Given the description of an element on the screen output the (x, y) to click on. 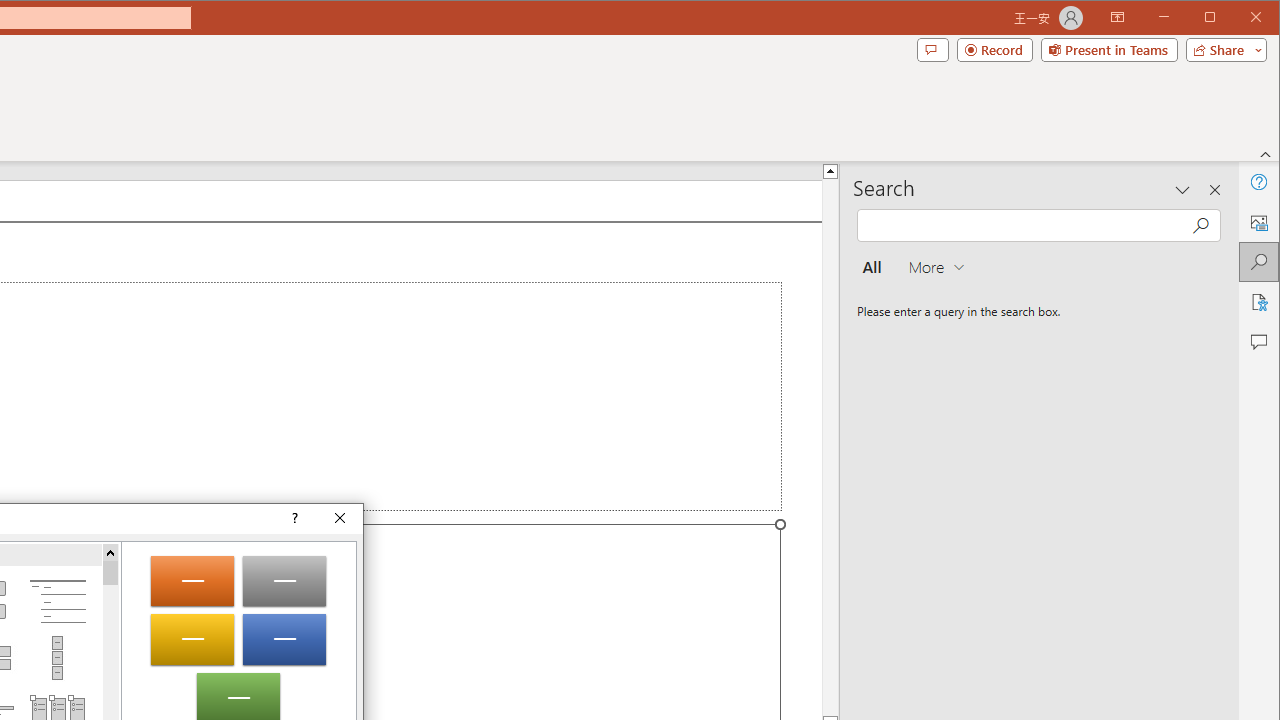
Lined List (57, 601)
